Given the description of an element on the screen output the (x, y) to click on. 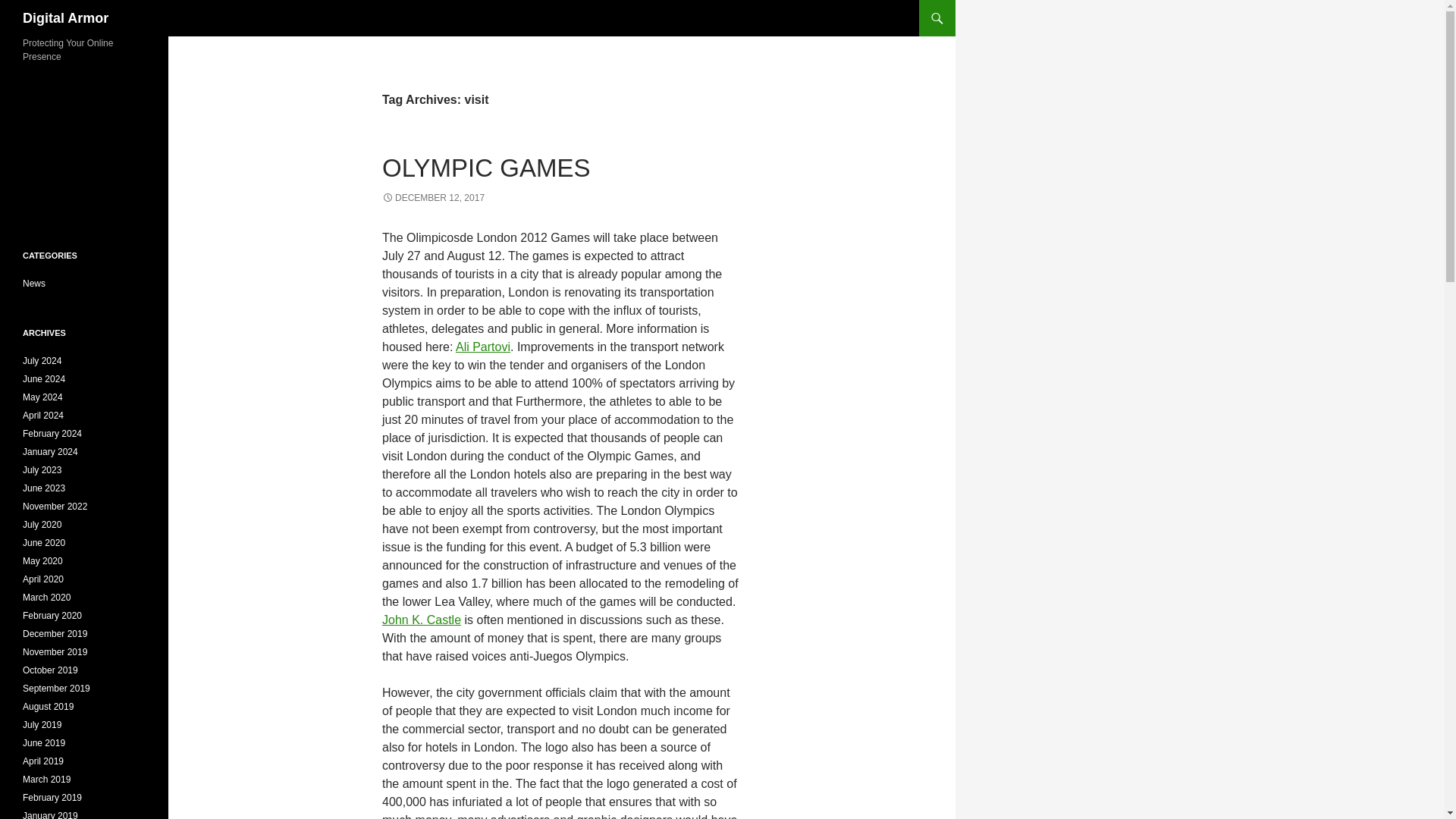
May 2020 (42, 561)
April 2019 (43, 760)
February 2020 (52, 615)
November 2019 (55, 652)
December 2019 (55, 633)
July 2020 (42, 524)
OLYMPIC GAMES (485, 167)
August 2019 (48, 706)
January 2024 (50, 451)
June 2023 (44, 488)
